Given the description of an element on the screen output the (x, y) to click on. 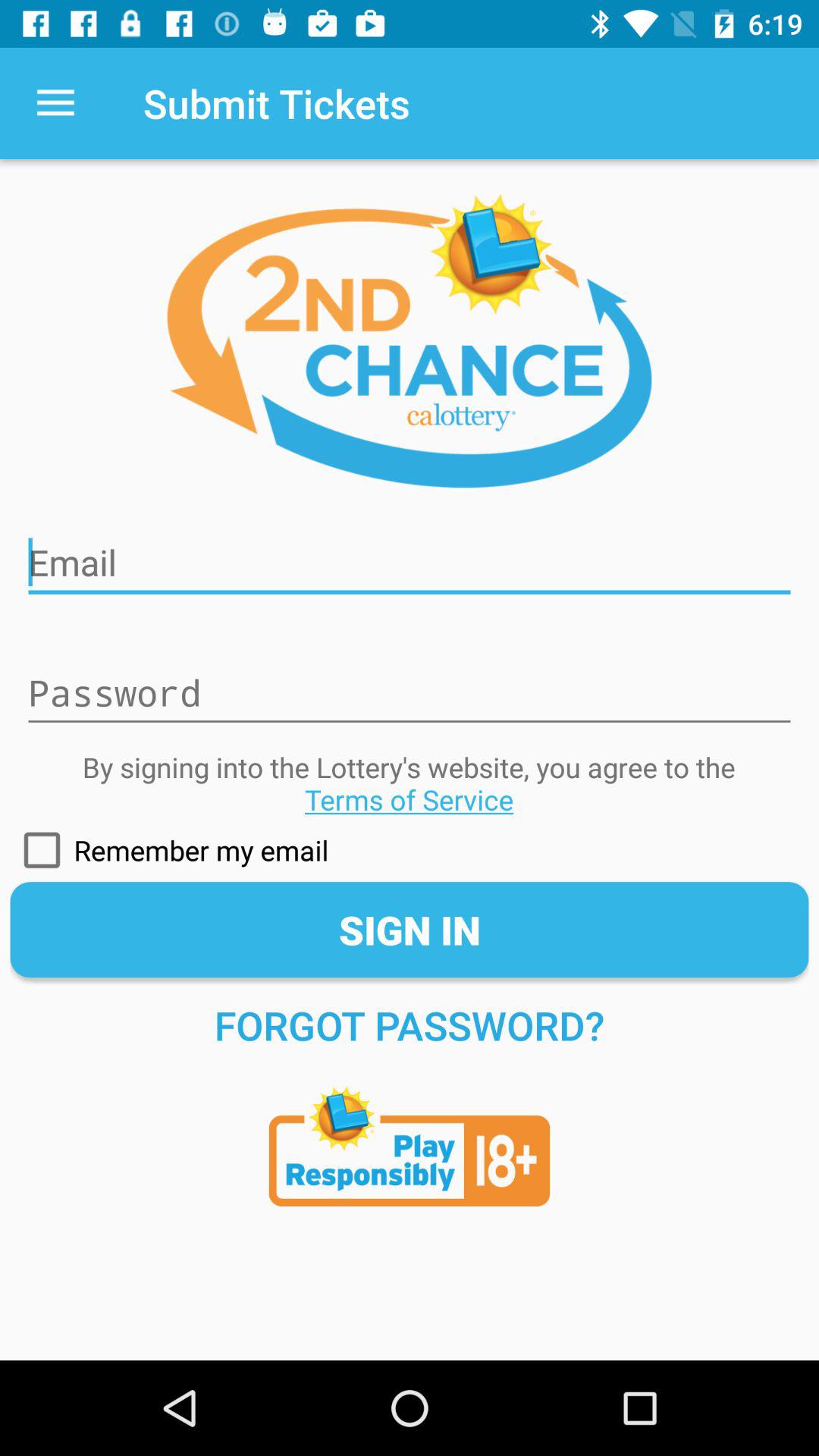
enter your email address (409, 552)
